Given the description of an element on the screen output the (x, y) to click on. 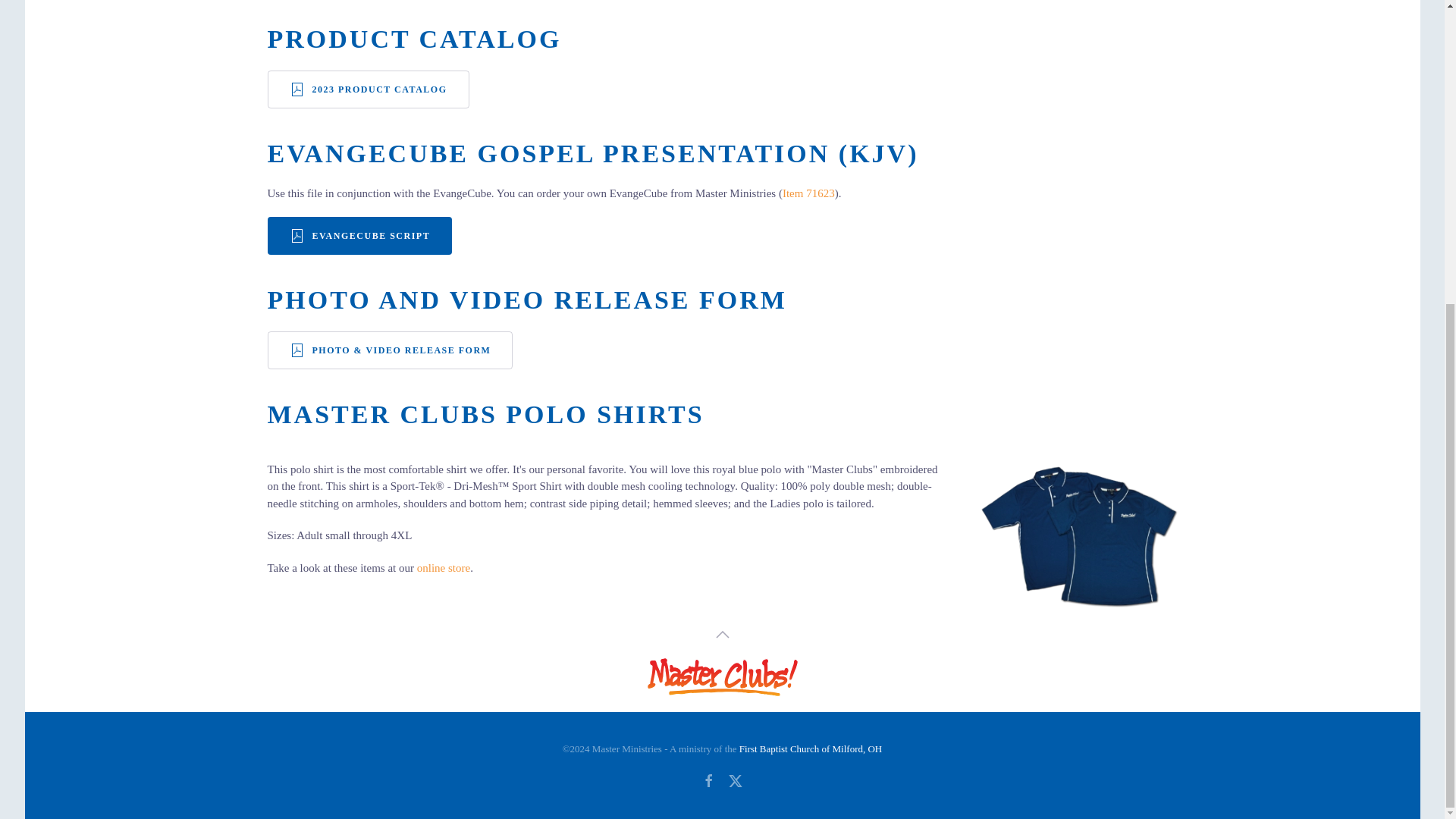
2023 PRODUCT CATALOG (367, 89)
